Given the description of an element on the screen output the (x, y) to click on. 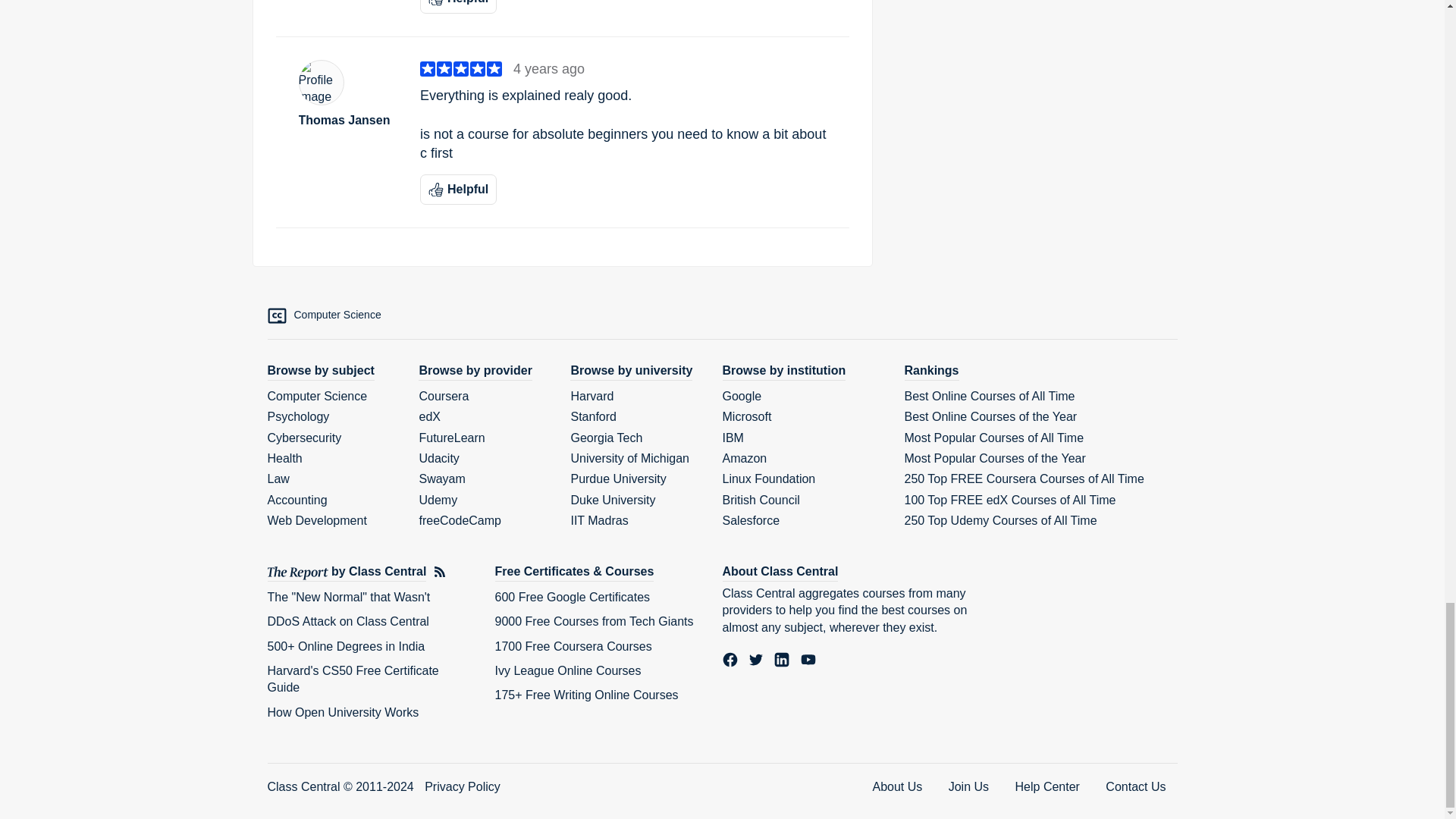
600 Free Google Certificates (572, 596)
Thomas Jansen (347, 120)
How Open University Works (342, 712)
Harvard's CS50 Free Certificate Guide (352, 678)
DDoS Attack on Class Central (347, 621)
Ivy League Online Courses (567, 670)
The "New Normal" that Wasn't (347, 596)
1700 Free Coursera Courses (572, 645)
Free Courses and Certificates (574, 571)
9000 Free Courses from Tech Giants (594, 621)
